Given the description of an element on the screen output the (x, y) to click on. 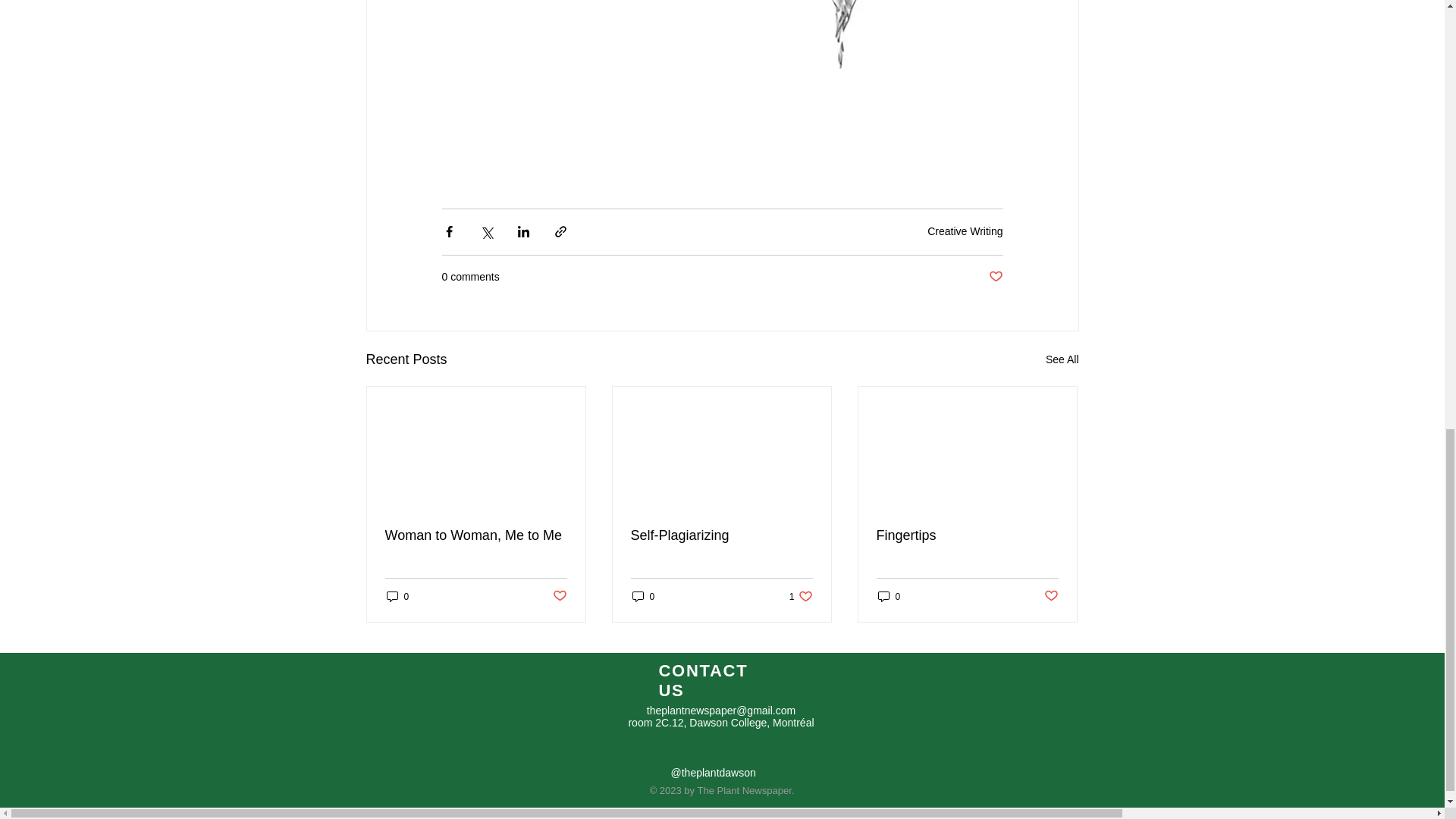
Woman to Woman, Me to Me  (476, 535)
Fingertips  (967, 535)
0 (397, 595)
See All (1061, 359)
Self-Plagiarizing (800, 595)
0 (721, 535)
0 (889, 595)
Creative Writing (643, 595)
Post not marked as liked (965, 231)
Post not marked as liked (1050, 596)
Post not marked as liked (558, 596)
